Given the description of an element on the screen output the (x, y) to click on. 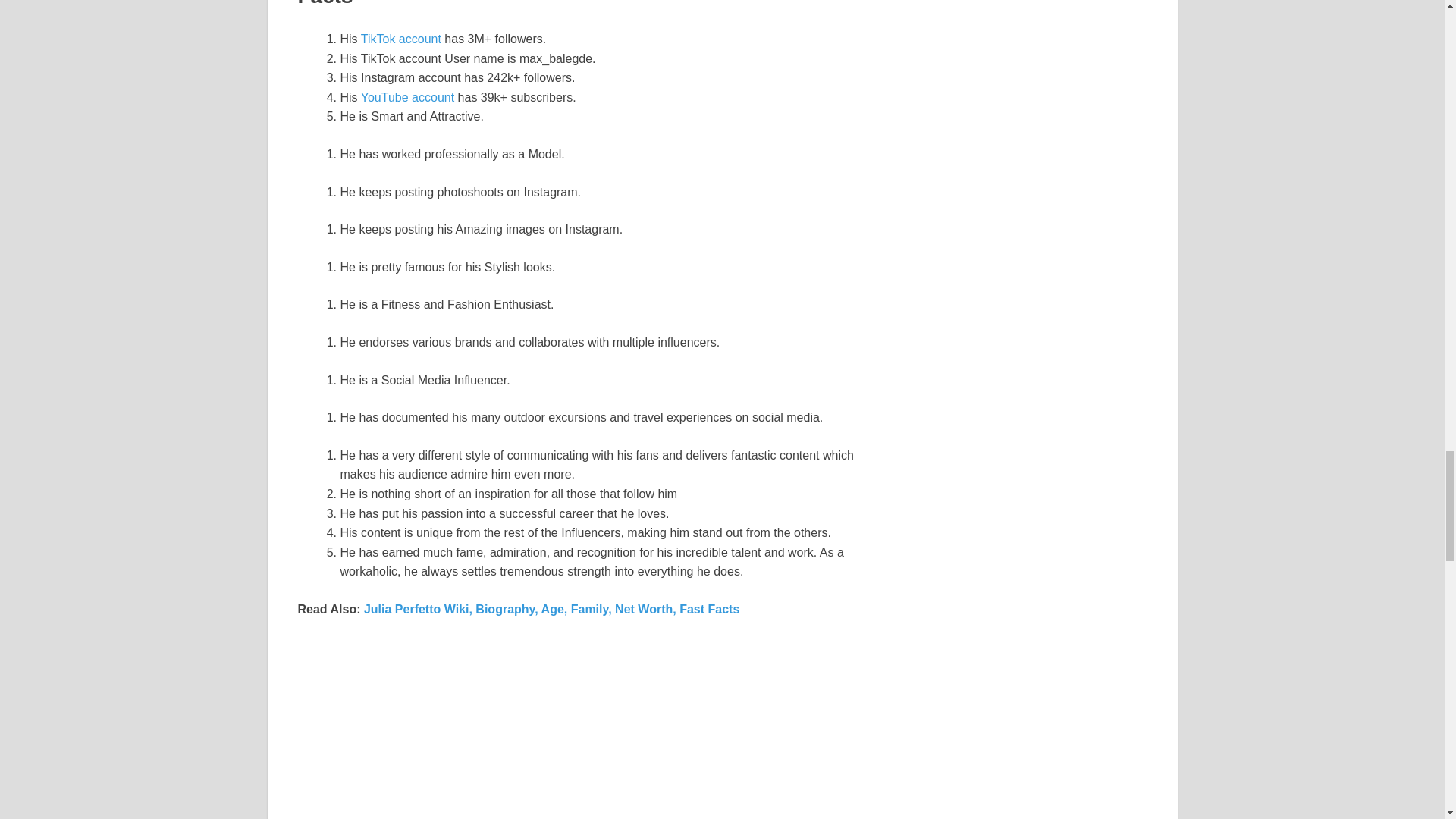
YouTube account (409, 97)
TikTok account (399, 38)
